Given the description of an element on the screen output the (x, y) to click on. 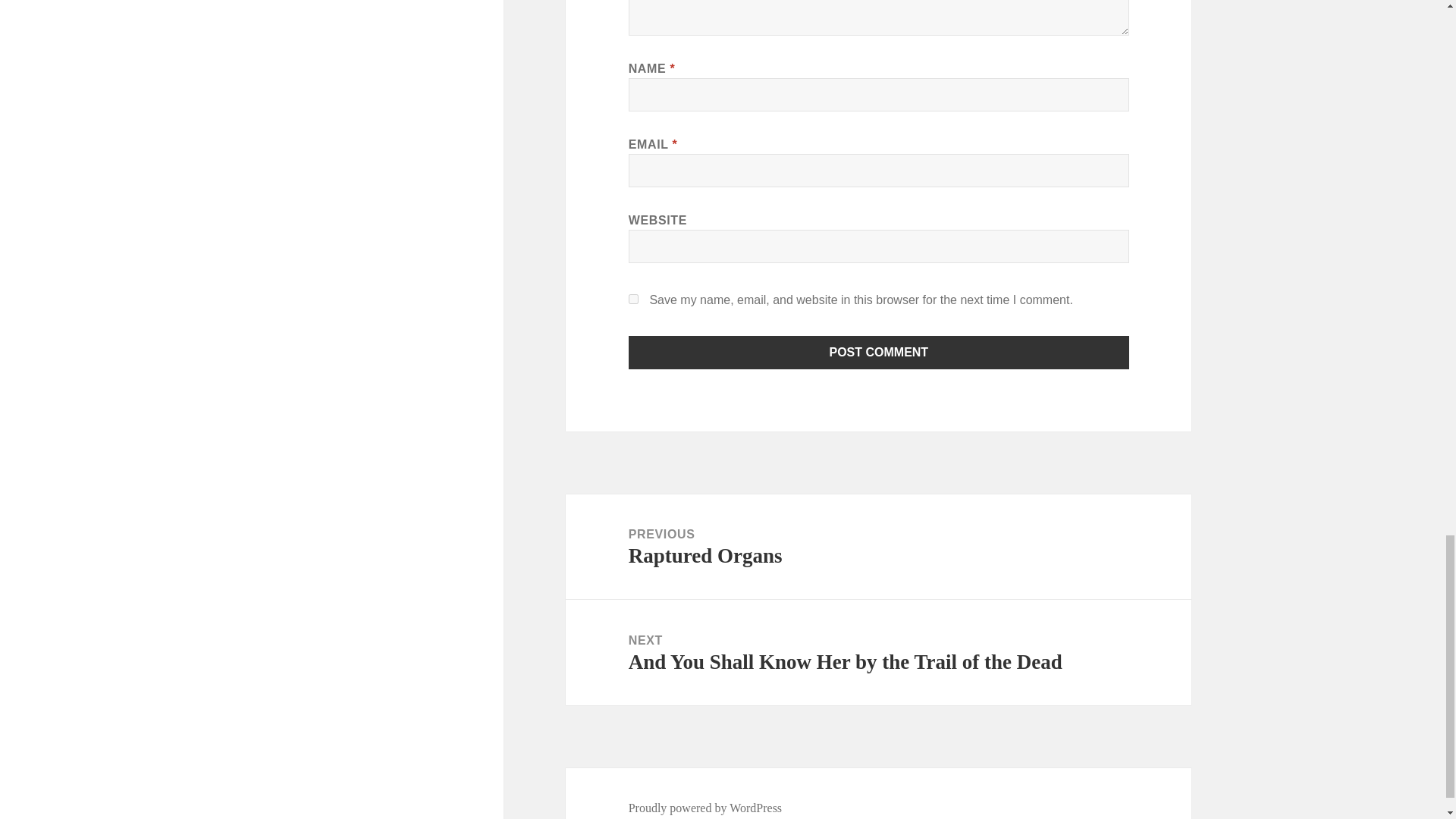
Proudly powered by WordPress (704, 807)
Post Comment (878, 352)
yes (633, 298)
Post Comment (878, 352)
